Given the description of an element on the screen output the (x, y) to click on. 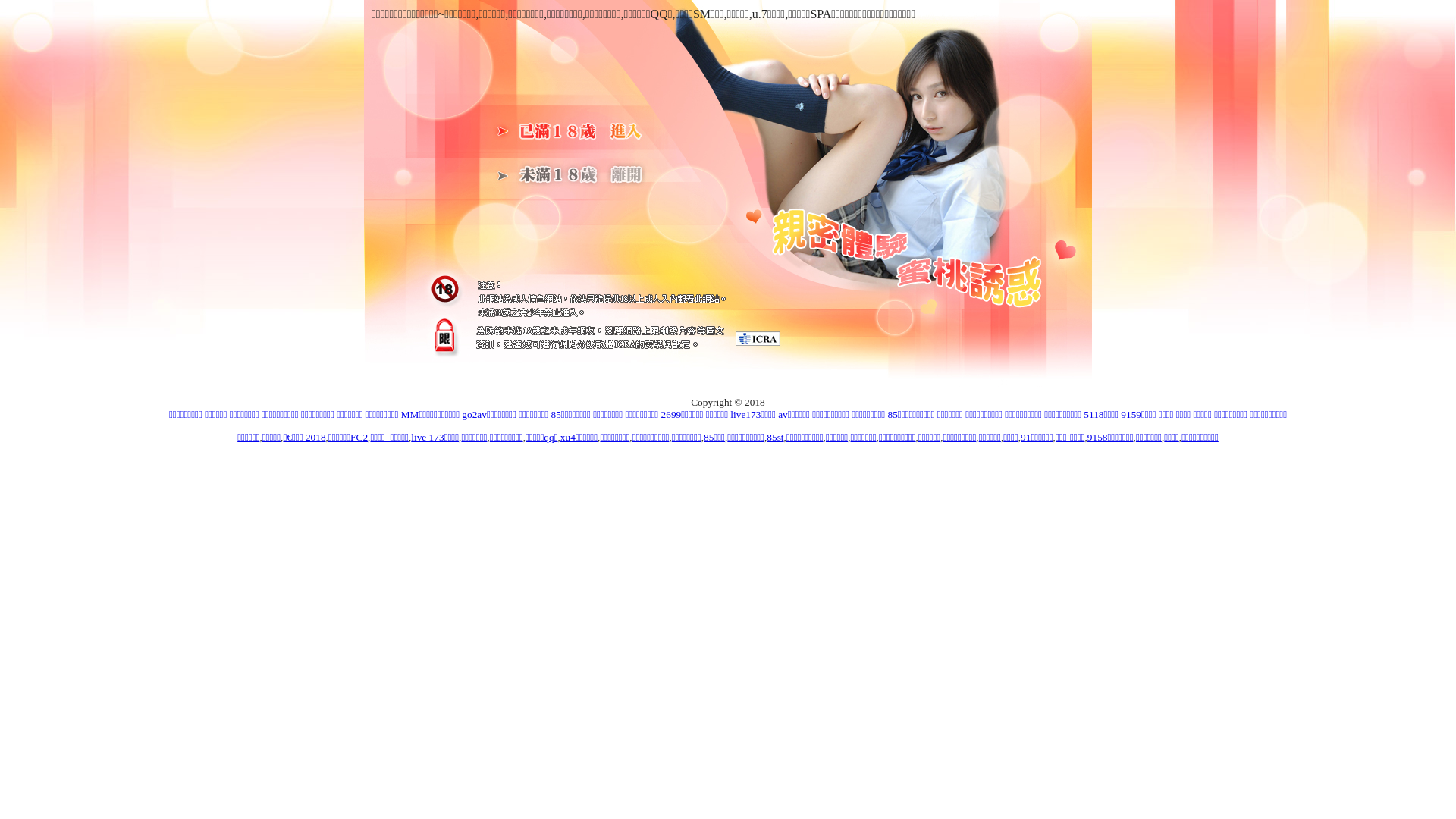
85st Element type: text (774, 436)
